Given the description of an element on the screen output the (x, y) to click on. 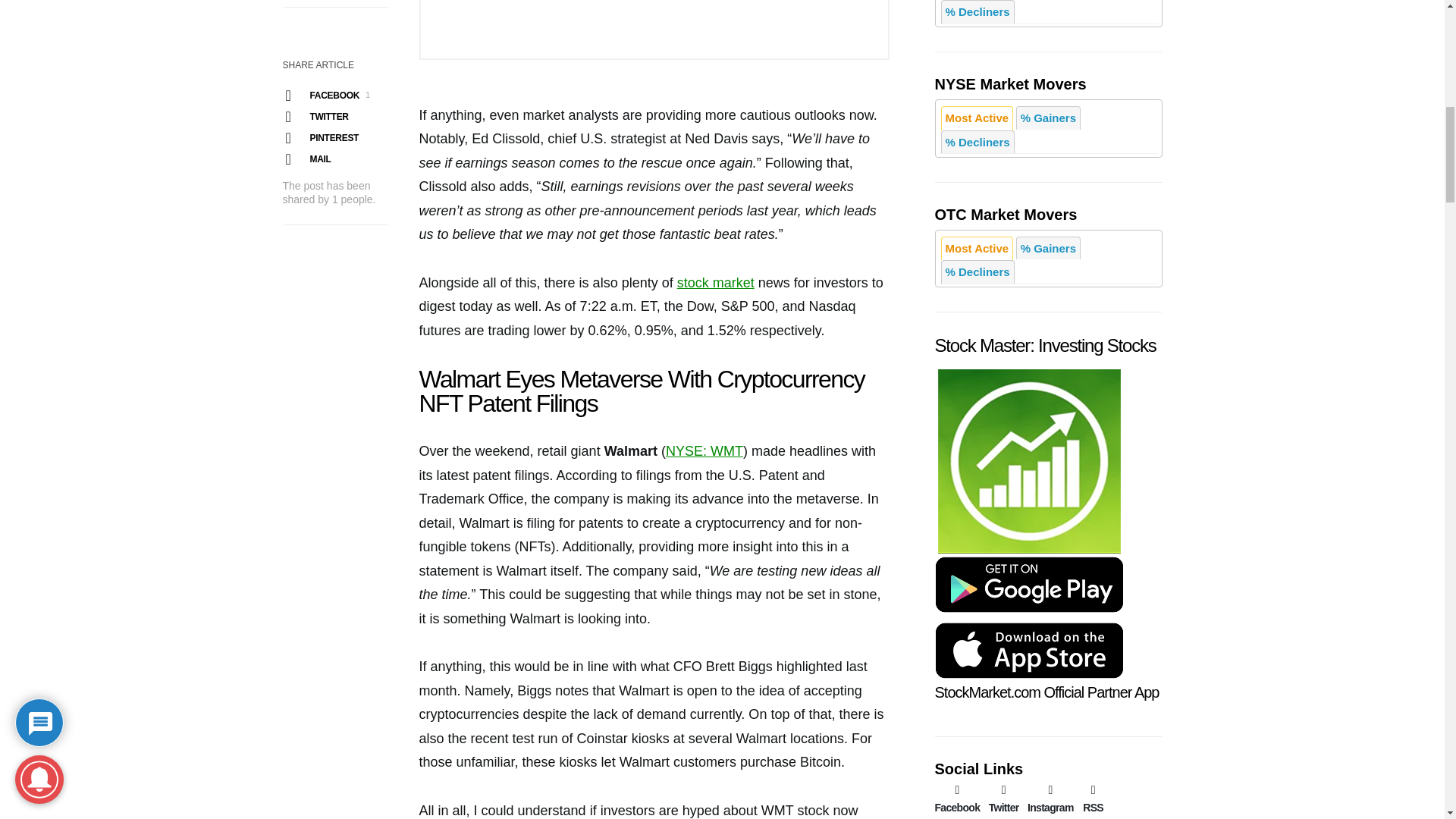
YouTube video player (653, 29)
